Given the description of an element on the screen output the (x, y) to click on. 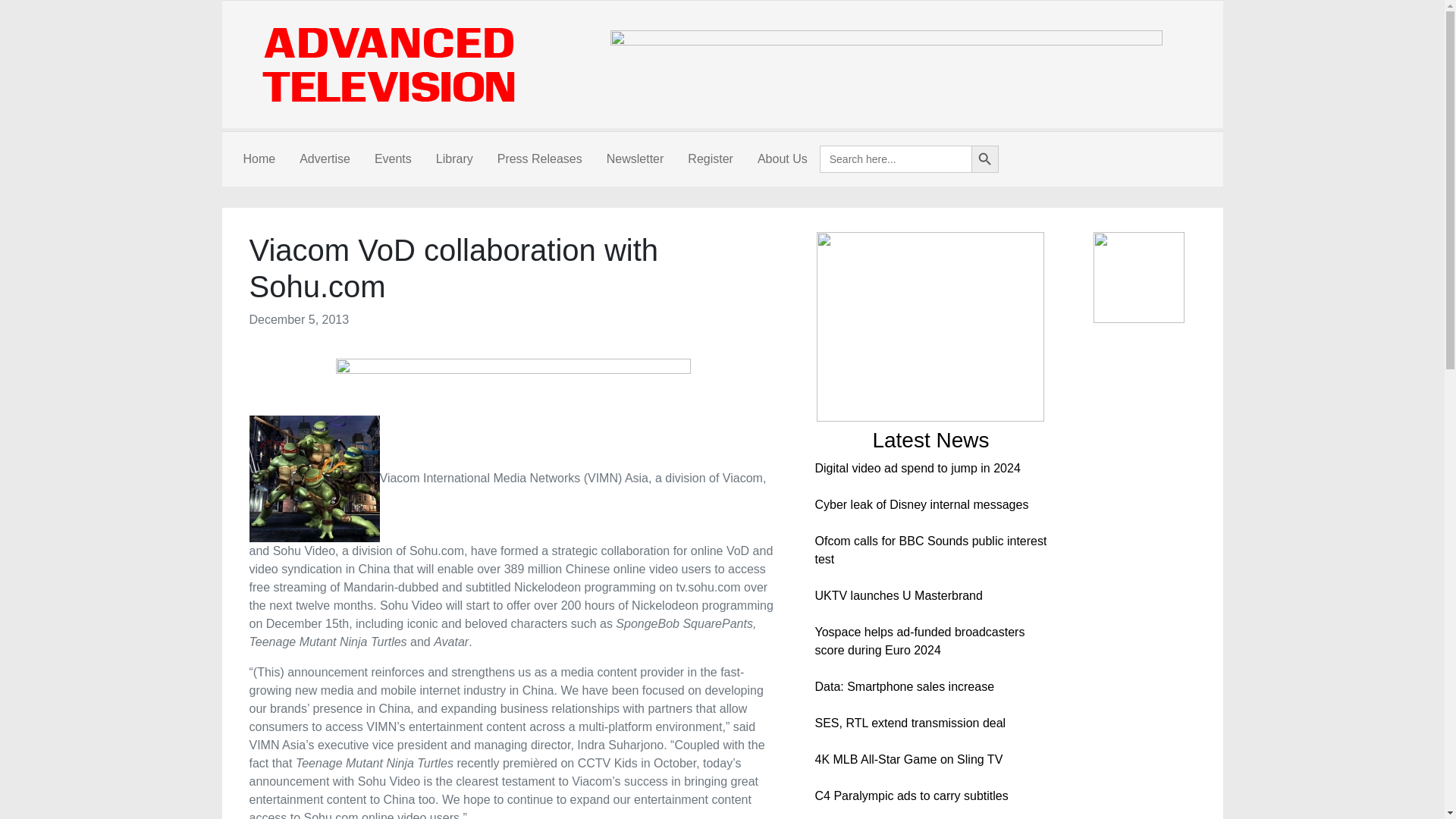
C4 Paralympic ads to carry subtitles (910, 795)
Ofcom calls for BBC Sounds public interest test (929, 549)
Home (258, 158)
Data: Smartphone sales increase (903, 686)
Newsletter (635, 158)
Library (453, 158)
Search Button (984, 158)
Digital video ad spend to jump in 2024 (916, 468)
About Us (782, 158)
Yospace helps ad-funded broadcasters score during Euro 2024 (919, 640)
Advertise (324, 158)
Cyber leak of Disney internal messages (920, 504)
Register (710, 158)
4K MLB All-Star Game on Sling TV (908, 758)
Events (392, 158)
